Given the description of an element on the screen output the (x, y) to click on. 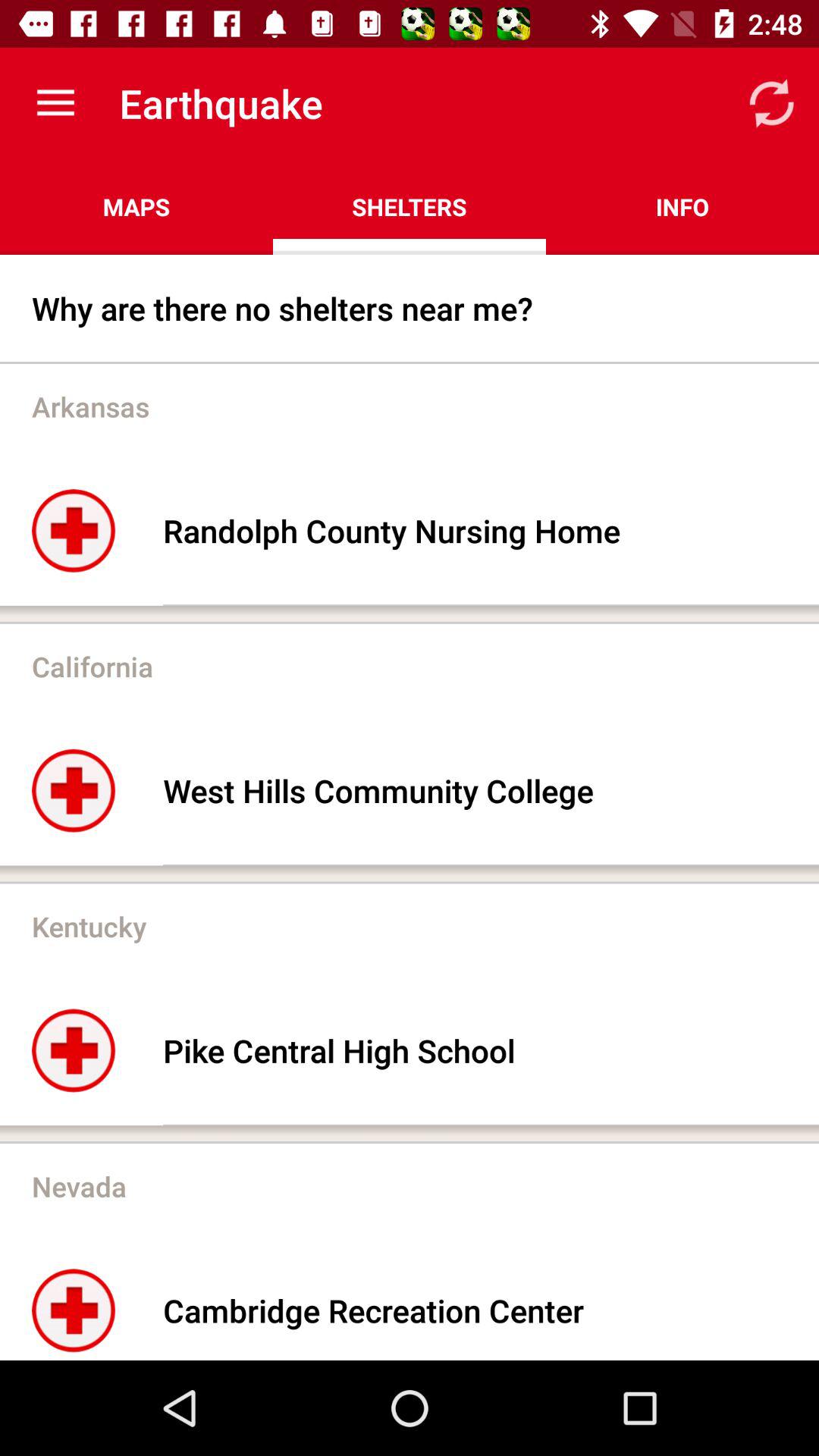
press icon above the maps (55, 103)
